Given the description of an element on the screen output the (x, y) to click on. 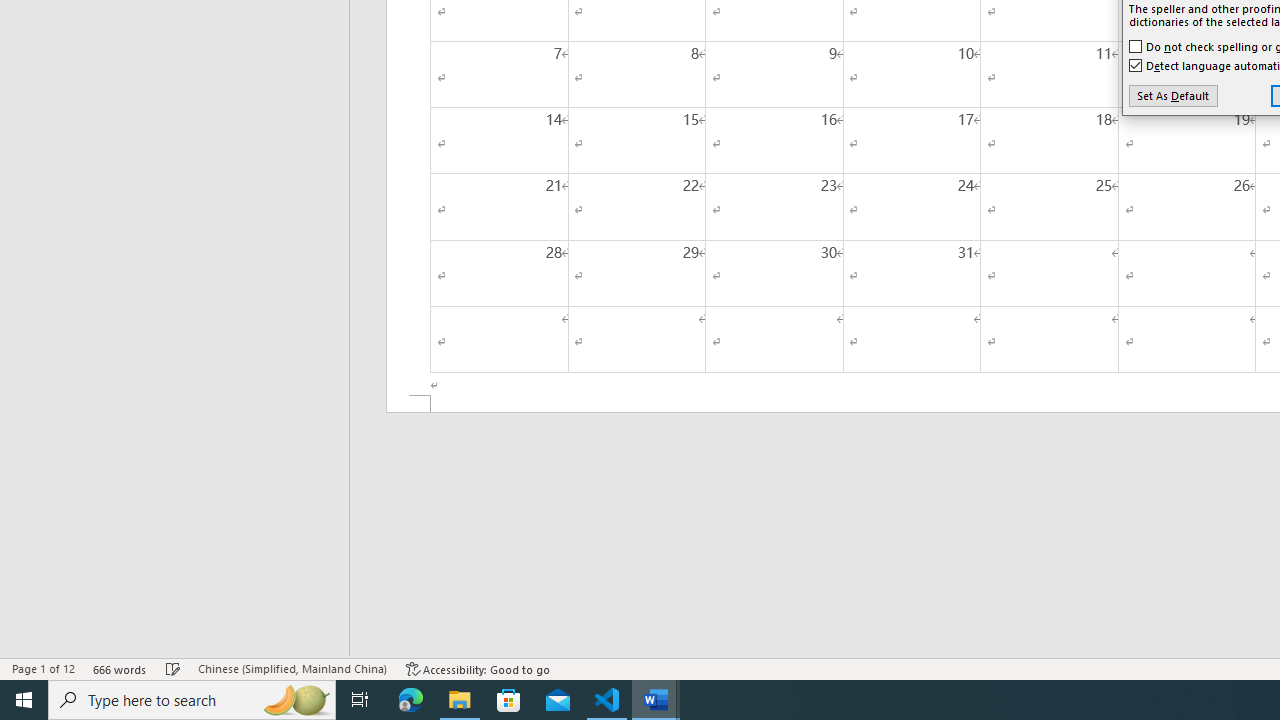
Spelling and Grammar Check Checking (173, 668)
Page Number Page 1 of 12 (43, 668)
